Given the description of an element on the screen output the (x, y) to click on. 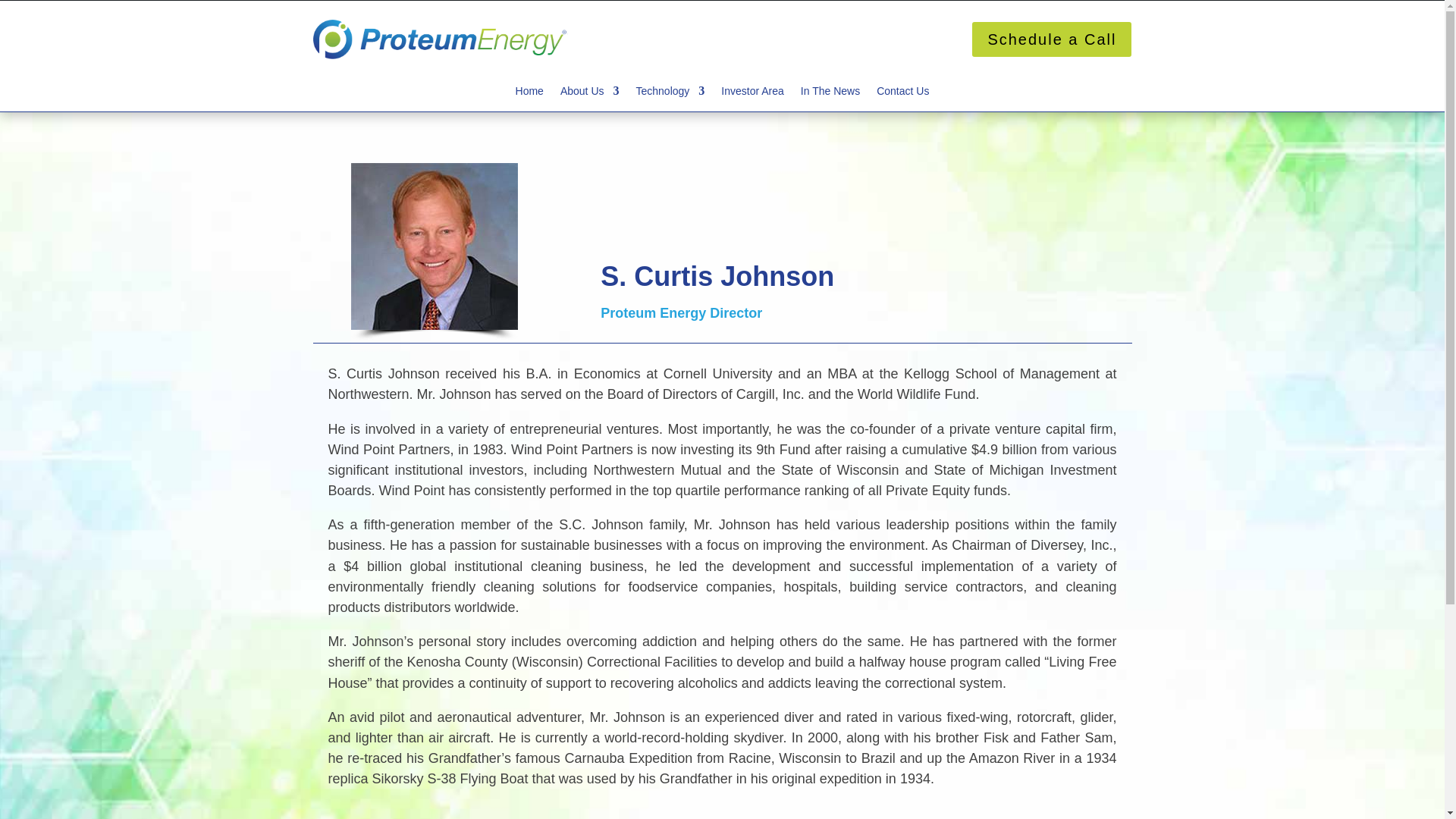
Technology (670, 93)
Home (529, 93)
Contact Us (902, 98)
About Us (590, 93)
Schedule a Call (1051, 39)
avatar-shadow (434, 336)
Dean Hoaglan (434, 246)
Investor Area (752, 93)
In The News (830, 93)
Logo Proteum Energy (440, 38)
